Given the description of an element on the screen output the (x, y) to click on. 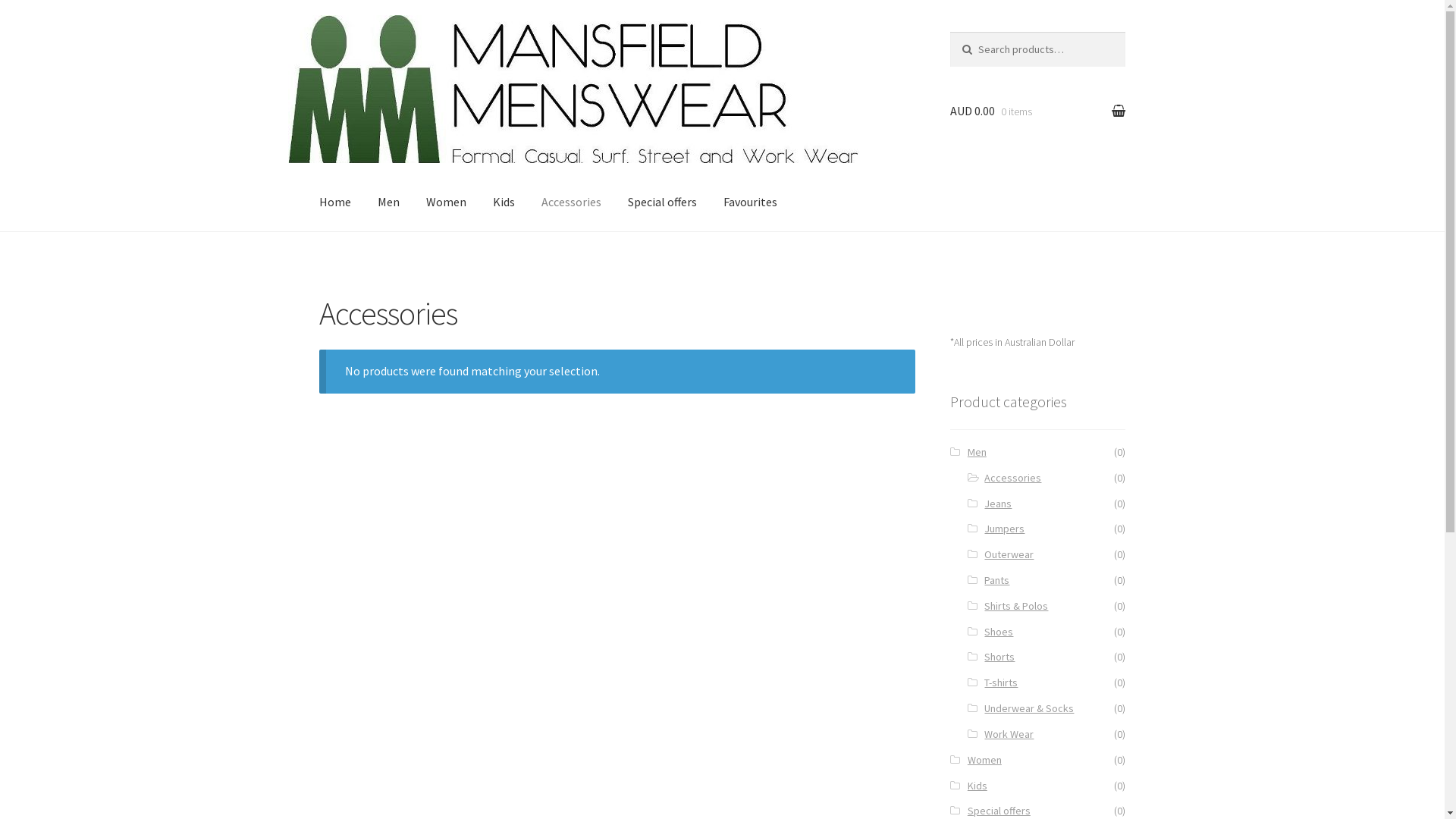
Shorts Element type: text (999, 656)
Special offers Element type: text (998, 810)
Home Element type: text (971, 225)
Special offers Element type: text (662, 202)
Underwear & Socks Element type: text (1028, 708)
AUD 0.00 0 items Element type: text (1037, 111)
Kids Element type: text (977, 785)
Men Element type: text (388, 202)
Outerwear Element type: text (1008, 554)
Accessories Element type: text (1012, 477)
Men Element type: text (976, 451)
Women Element type: text (984, 759)
Home Element type: text (335, 202)
Search Element type: text (981, 46)
Work Wear Element type: text (1008, 733)
T-shirts Element type: text (1000, 682)
Favourites Element type: text (750, 202)
Pants Element type: text (996, 579)
Jeans Element type: text (997, 503)
Accessories Element type: text (571, 202)
Skip to navigation Element type: text (366, 41)
Men Element type: text (1013, 225)
Shirts & Polos Element type: text (1016, 605)
Jumpers Element type: text (1004, 528)
Women Element type: text (446, 202)
Shoes Element type: text (998, 631)
Kids Element type: text (503, 202)
Skip to content Element type: text (359, 41)
